Given the description of an element on the screen output the (x, y) to click on. 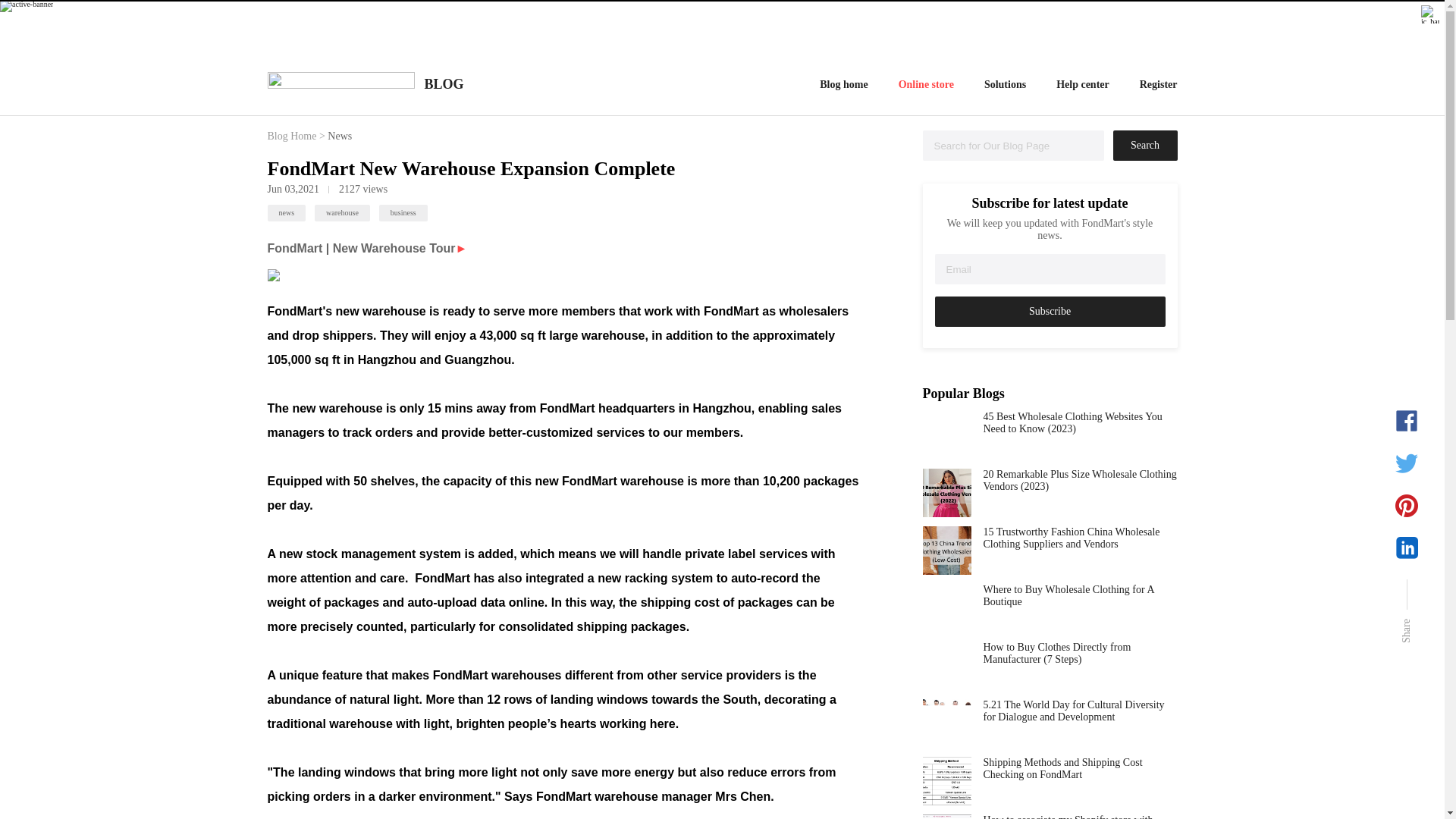
BLOG (440, 85)
News (339, 135)
Shipping Methods and Shipping Cost Checking on FondMart (1079, 780)
How to associate my Shopify store with FondMart app? (1079, 816)
Where to Buy Wholesale Clothing for A Boutique (1079, 607)
Online store (925, 84)
